Given the description of an element on the screen output the (x, y) to click on. 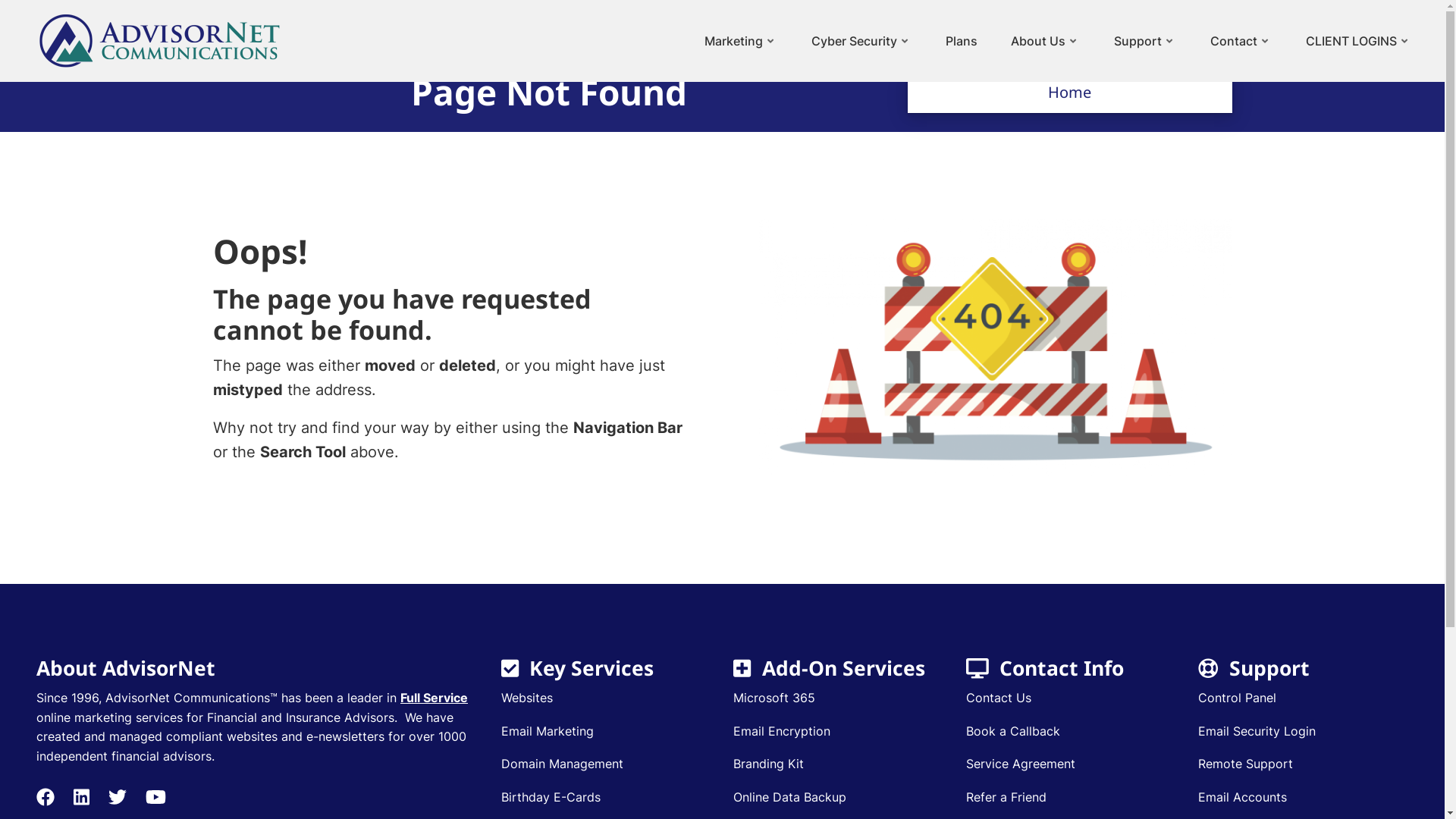
Plans Element type: text (952, 40)
Control Panel Element type: text (1237, 698)
Book a Callback Element type: text (1013, 731)
Refer a Friend Element type: text (1006, 797)
Websites Element type: text (526, 698)
Email Encryption Element type: text (781, 731)
Remote Support Element type: text (1245, 764)
Email Marketing Element type: text (547, 731)
Domain Management Element type: text (562, 764)
Home Element type: text (1068, 92)
Branding Kit Element type: text (768, 764)
Service Agreement Element type: text (1020, 764)
Skip to main content Element type: text (0, 0)
Birthday E-Cards Element type: text (550, 797)
Page Not Found Element type: hover (994, 346)
Microsoft 365 Element type: text (774, 698)
Home Element type: hover (159, 39)
Contact Us Element type: text (998, 698)
Email Security Login Element type: text (1256, 731)
Online Data Backup Element type: text (789, 797)
Email Accounts Element type: text (1242, 797)
